Given the description of an element on the screen output the (x, y) to click on. 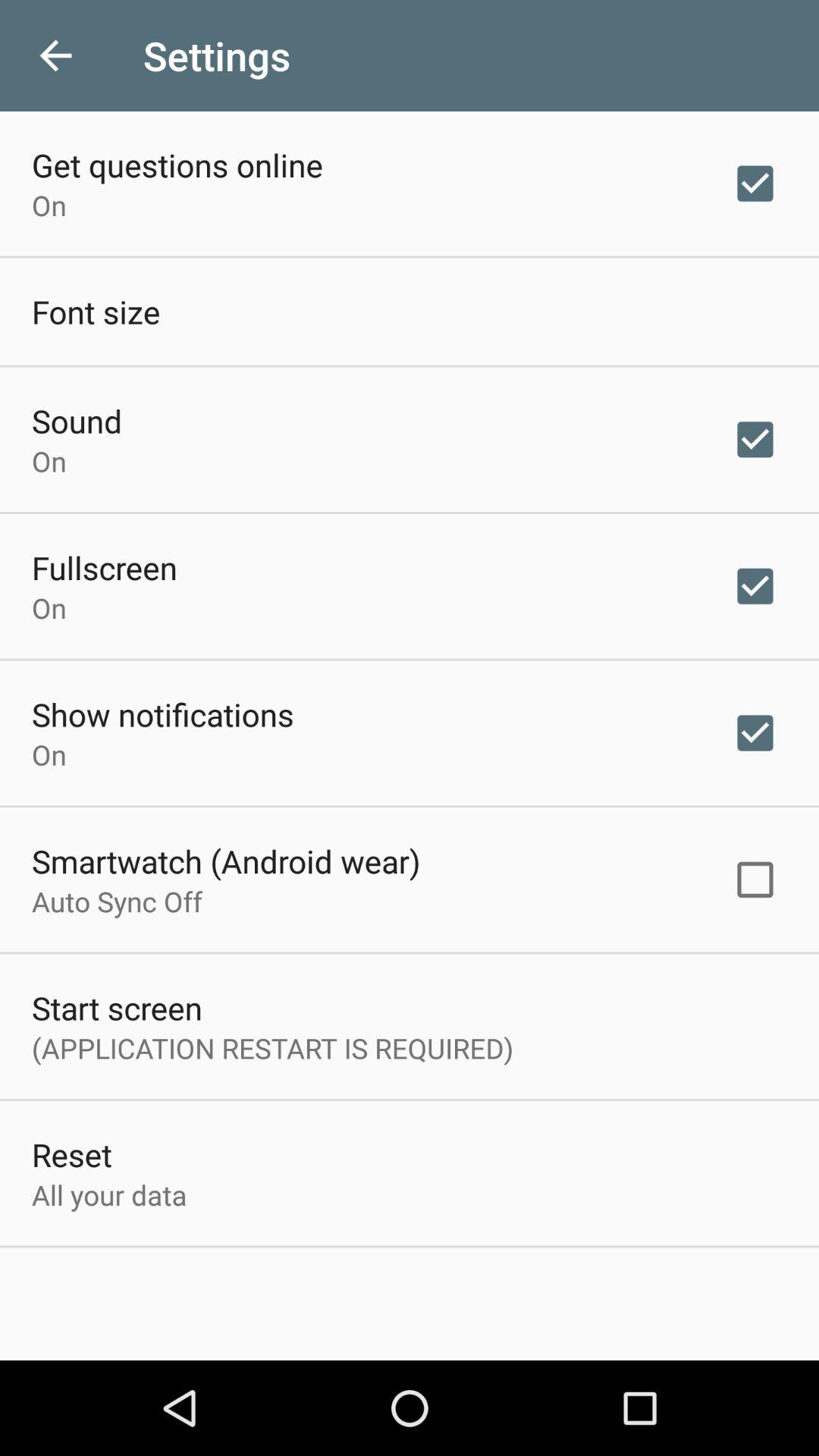
open the fullscreen (104, 567)
